Given the description of an element on the screen output the (x, y) to click on. 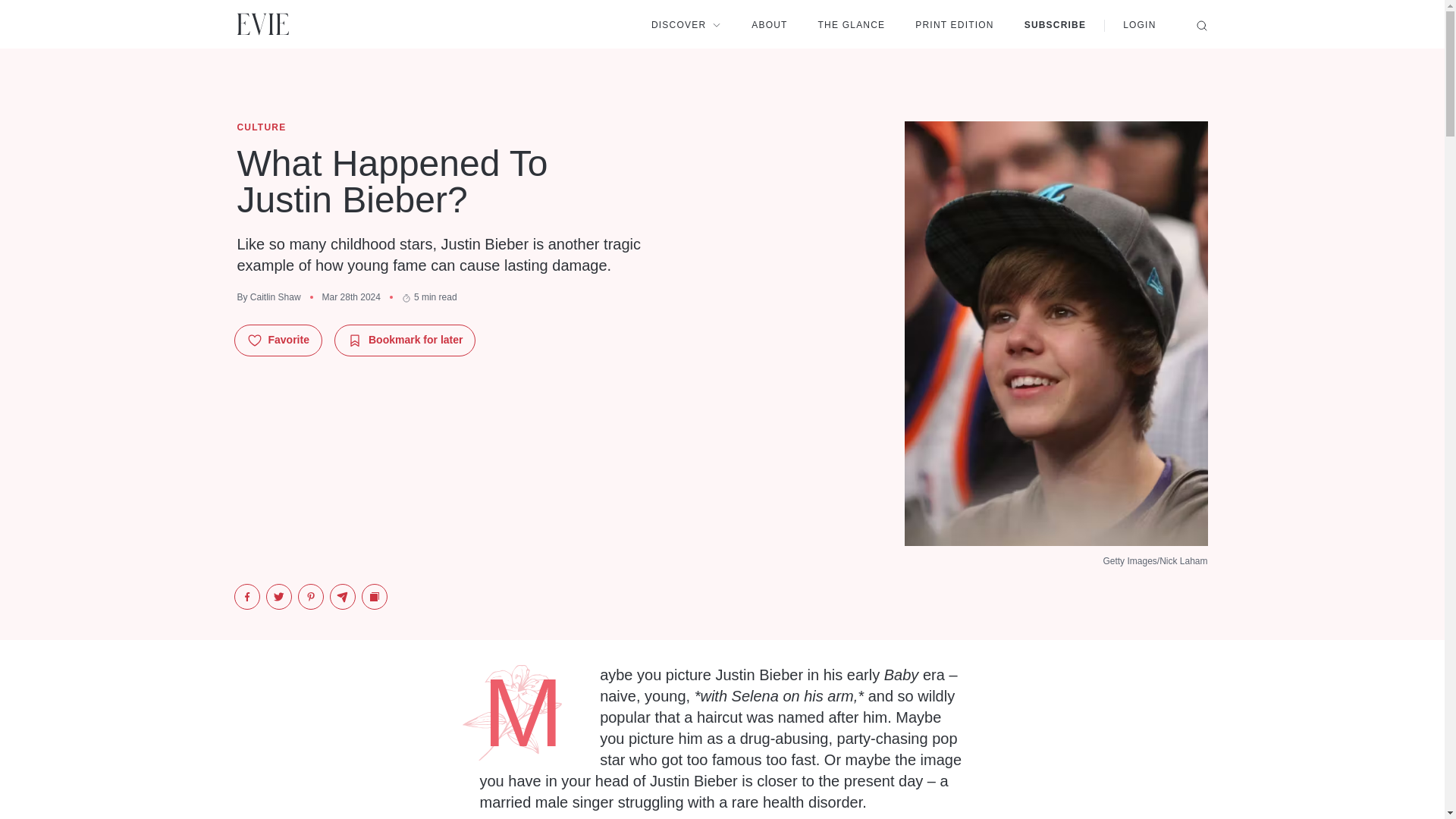
By Caitlin Shaw (267, 297)
DISCOVER (685, 24)
LOGIN (1139, 24)
THE GLANCE (851, 24)
Copy to Clipboard (374, 596)
ABOUT (769, 24)
SUBSCRIBE (1055, 24)
Evie Magazine (261, 24)
Bookmark for later (405, 340)
Favorite (276, 340)
